Given the description of an element on the screen output the (x, y) to click on. 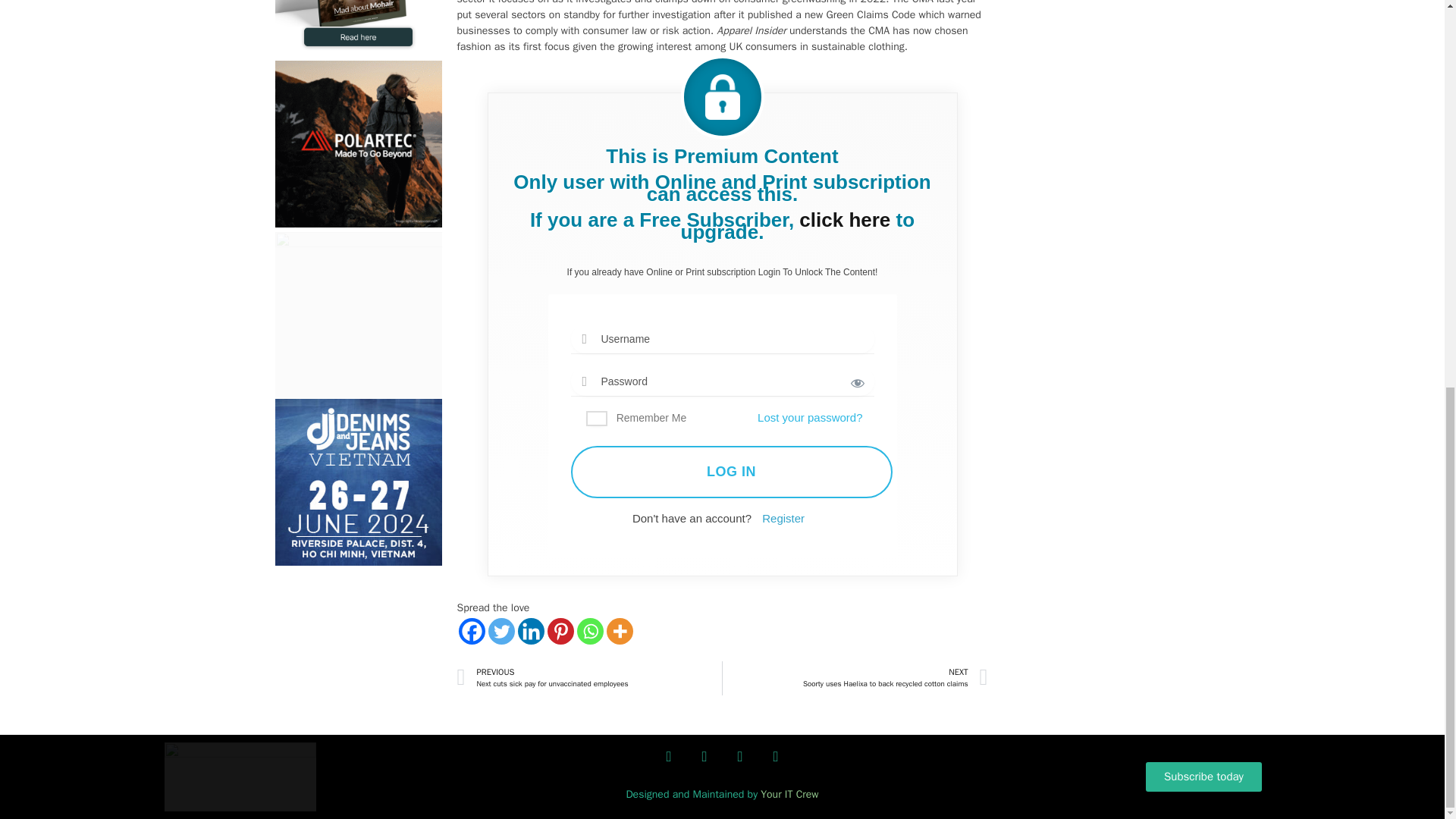
Twitter (501, 631)
click here (844, 219)
Register (783, 517)
Facebook (471, 631)
Log In (730, 471)
Linkedin (529, 631)
Lost your password? (809, 417)
Log In (730, 471)
forever (596, 418)
